Given the description of an element on the screen output the (x, y) to click on. 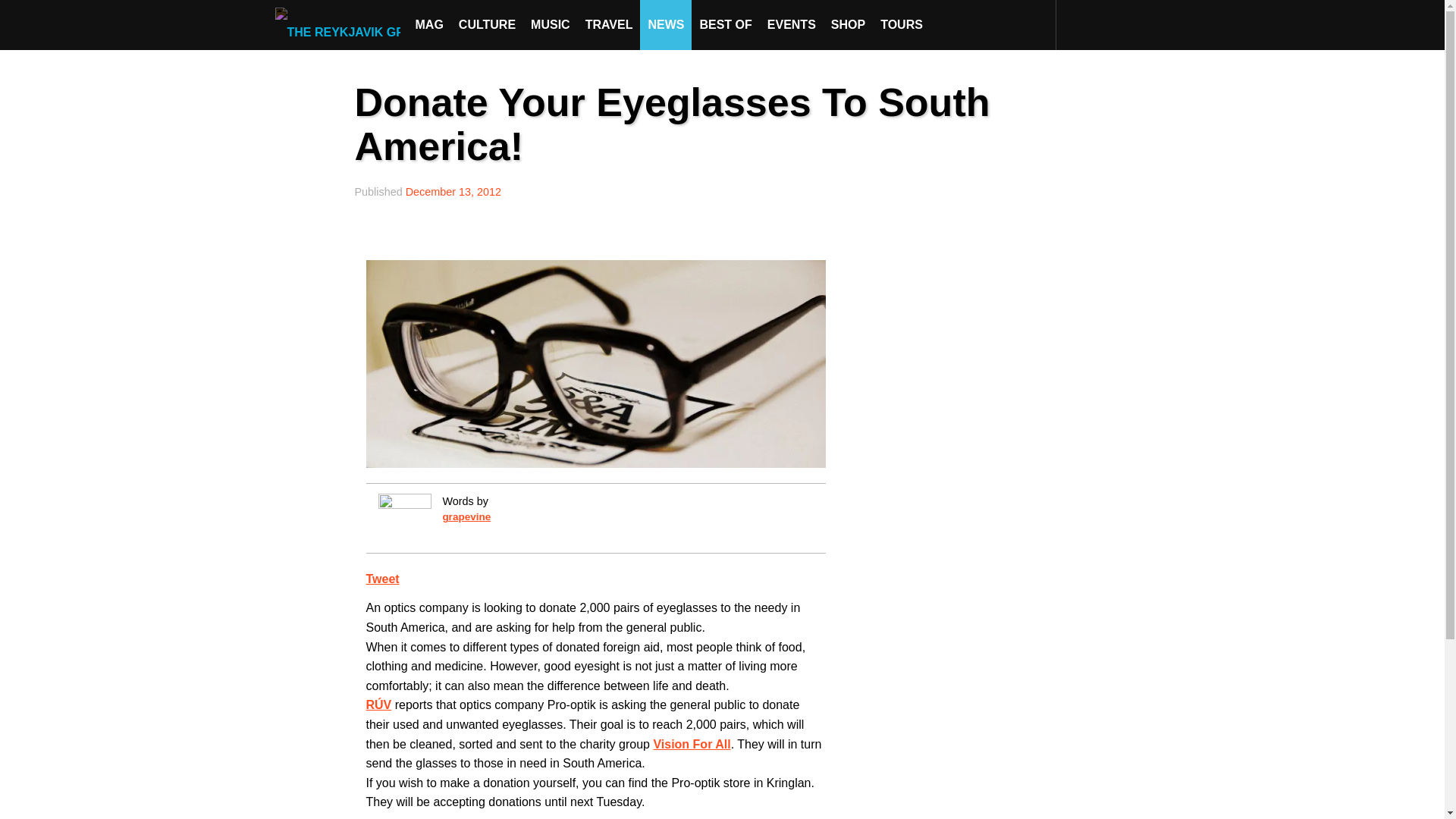
NEWS (665, 24)
SHOP (848, 24)
The Reykjavik Grapevine (341, 24)
grapevine (466, 516)
Tweet (381, 578)
Vision For All (691, 744)
EVENTS (792, 24)
CULTURE (486, 24)
BEST OF (724, 24)
MUSIC (550, 24)
Posts by grapevine (466, 516)
TRAVEL (609, 24)
TOURS (901, 24)
